Given the description of an element on the screen output the (x, y) to click on. 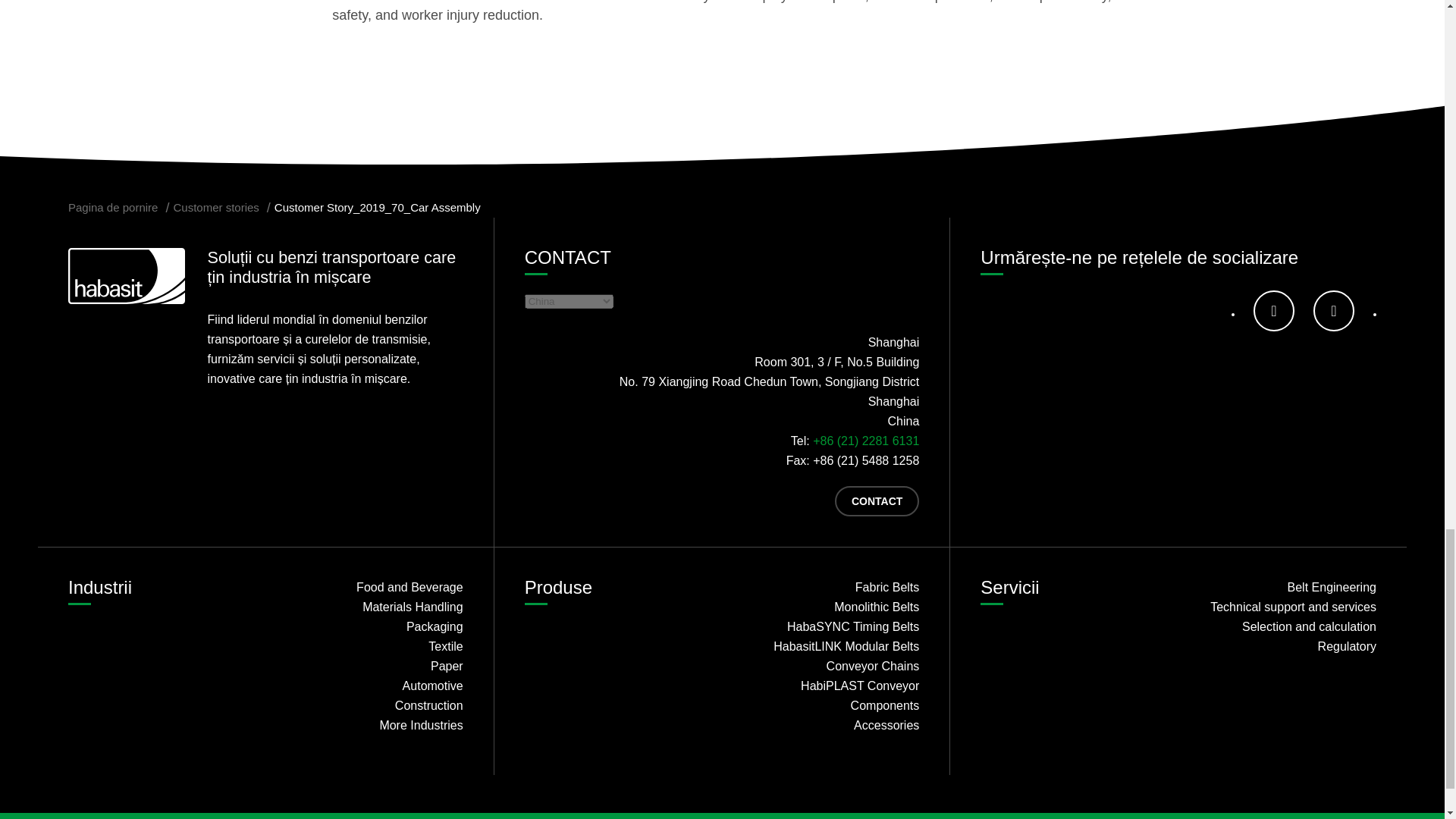
HabaSYNC Timing Belts (825, 627)
Construction (369, 705)
Paper (369, 666)
Conveyor Chains (825, 666)
Food and Beverage (369, 587)
More Industries (369, 725)
CONTACT (876, 501)
Regulatory (1282, 646)
Technical support and services (1282, 607)
Materials Handling (369, 607)
HabiPLAST Conveyor Components (825, 695)
Pagina de pornire (112, 206)
Textile (369, 646)
HabasitLINK Modular Belts (825, 646)
Packaging (369, 627)
